Given the description of an element on the screen output the (x, y) to click on. 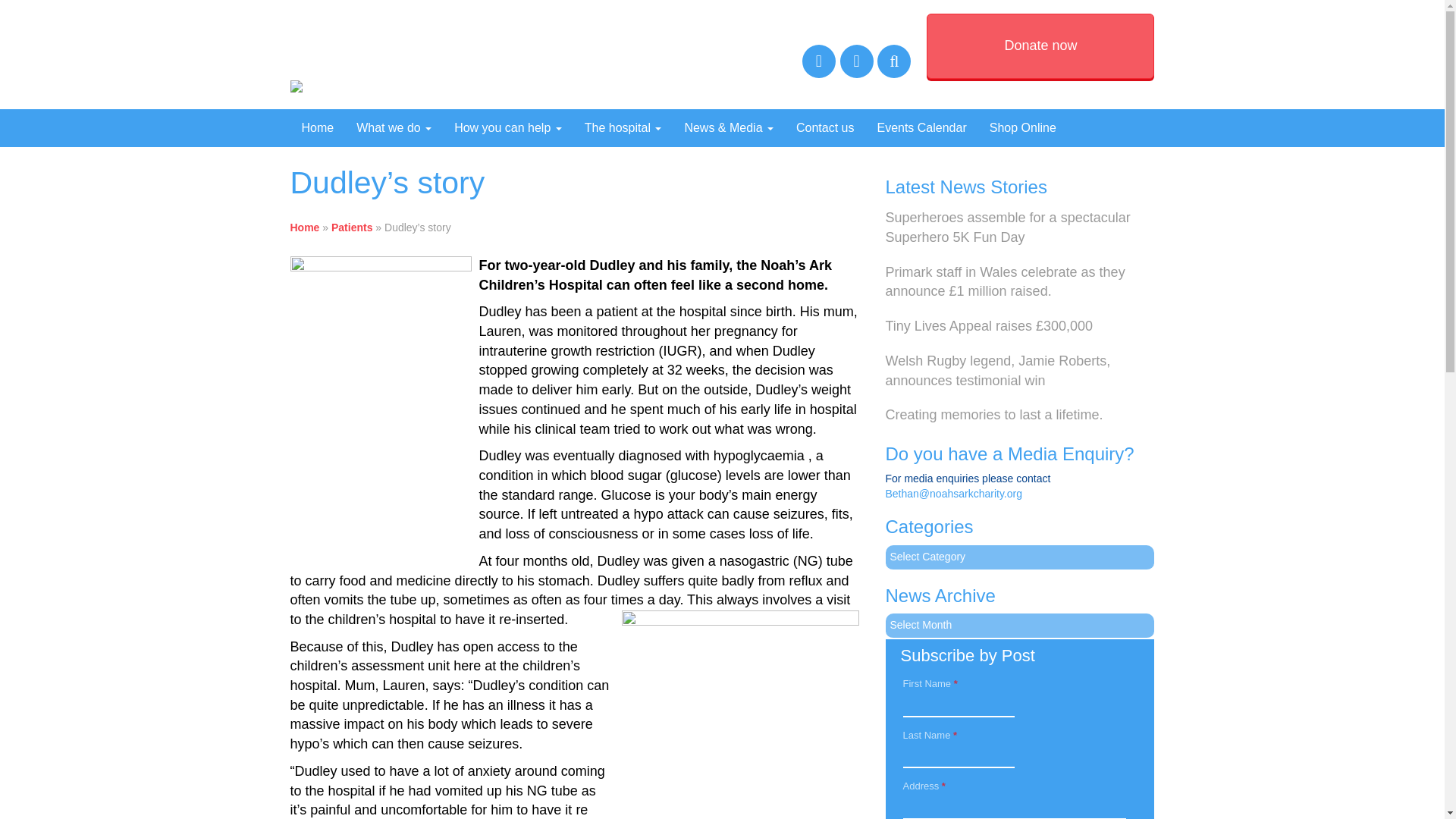
Home (317, 127)
Home (317, 127)
The hospital (622, 127)
What we do (393, 127)
How you can help (507, 127)
Contact us (824, 127)
What we do (393, 127)
How you can help (507, 127)
Donate now (1040, 45)
